Given the description of an element on the screen output the (x, y) to click on. 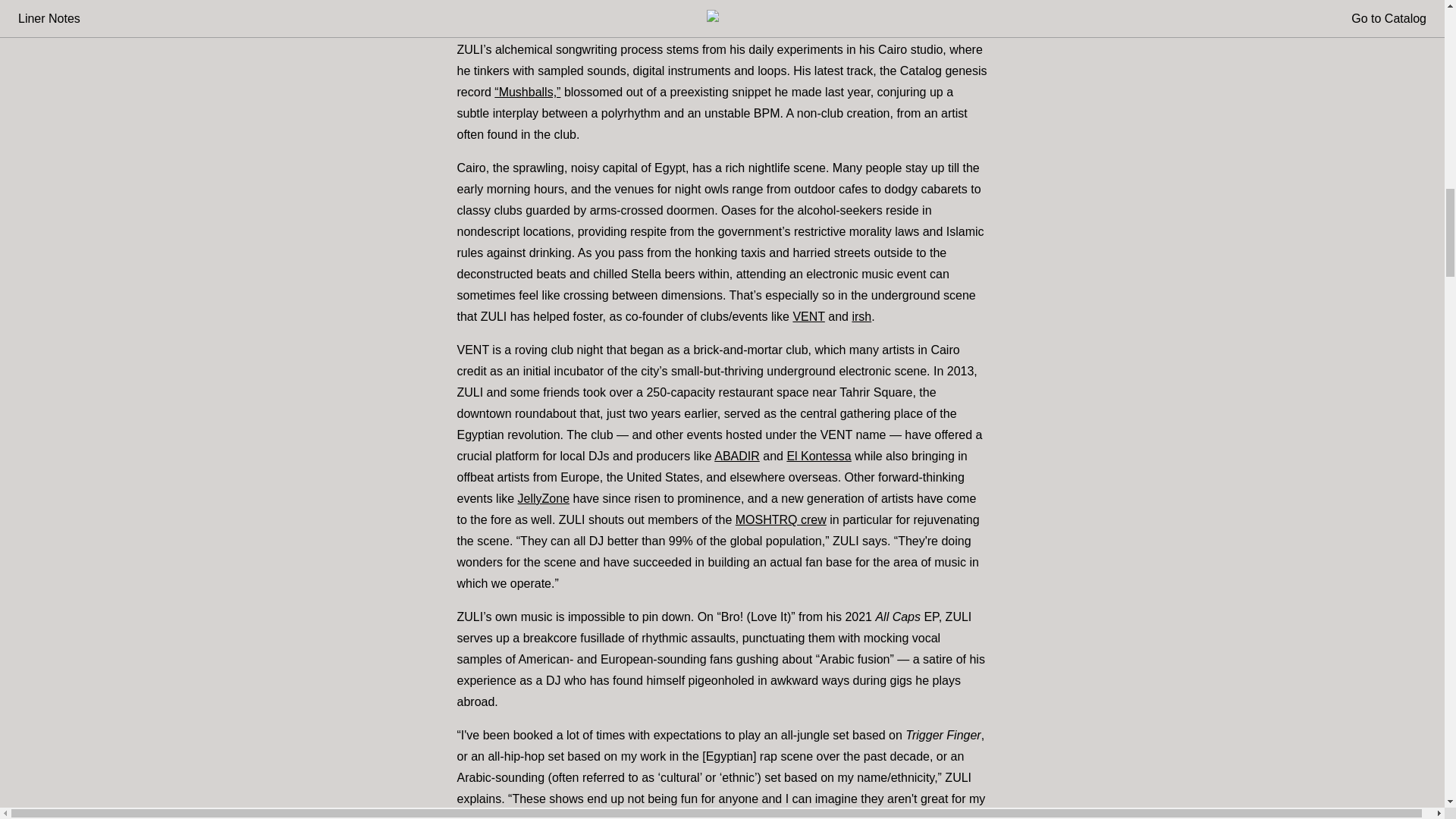
irsh (860, 316)
JellyZone (543, 498)
MOSHTRQ crew (781, 519)
ABADIR (737, 455)
VENT (808, 316)
El Kontessa (818, 455)
